Given the description of an element on the screen output the (x, y) to click on. 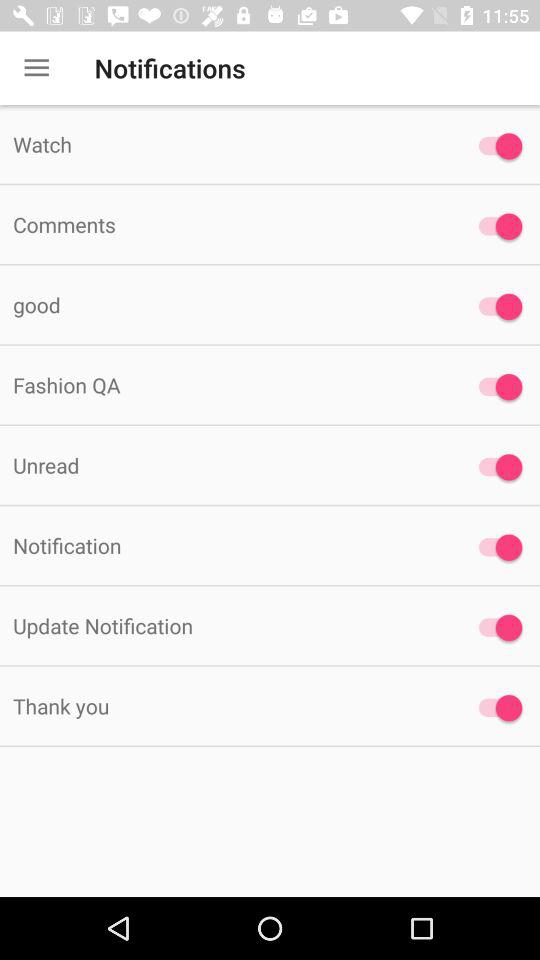
turn on the icon below comments icon (225, 304)
